Given the description of an element on the screen output the (x, y) to click on. 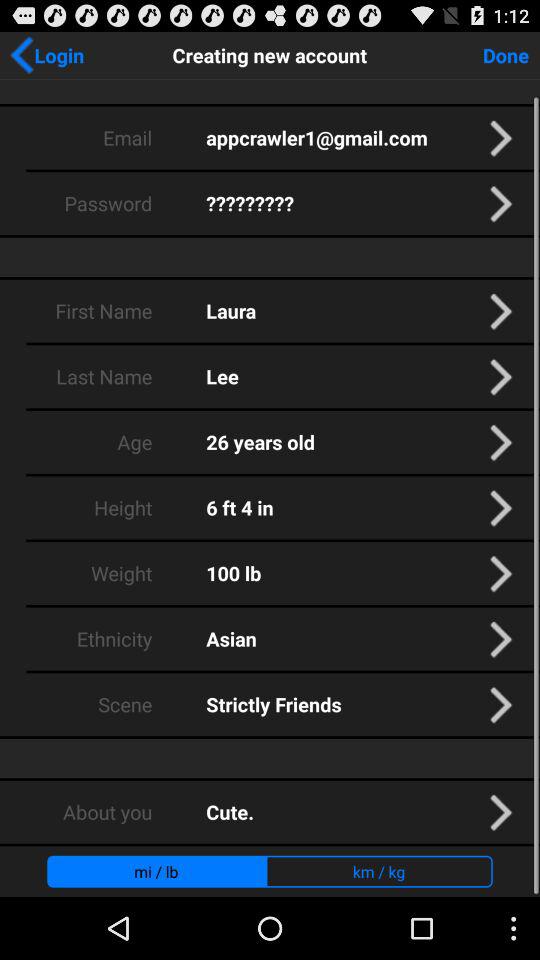
press the done app (506, 54)
